Given the description of an element on the screen output the (x, y) to click on. 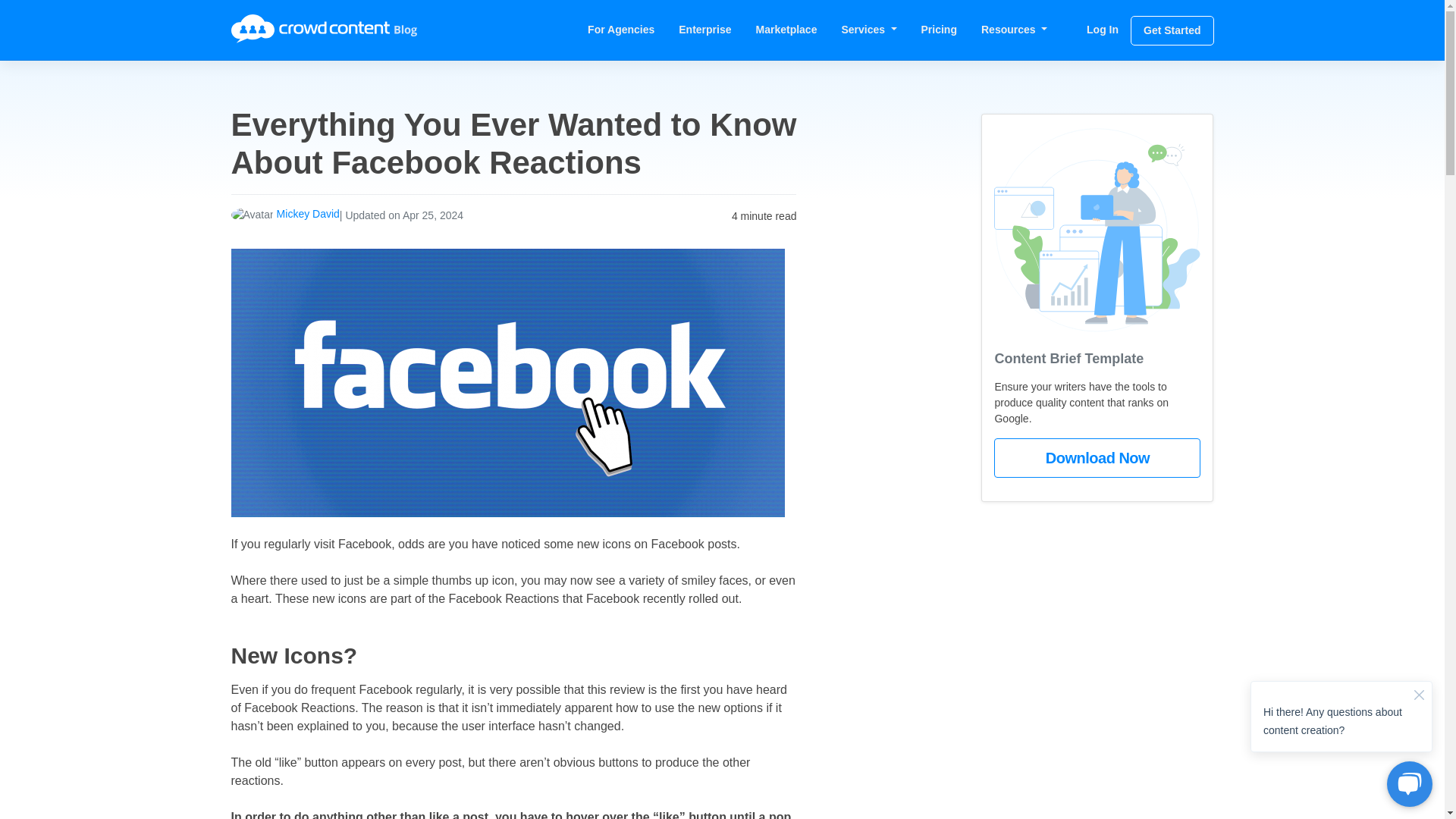
Pricing (938, 29)
Marketplace (786, 29)
Services (868, 29)
Enterprise (704, 29)
Marketplace (786, 29)
Log In (1102, 29)
For Agencies (620, 29)
Resources (1014, 29)
Pricing (938, 29)
Resources (1014, 29)
Services (868, 29)
Enterprise (704, 29)
Mickey David (307, 214)
Get Started (1171, 30)
For Agencies (620, 29)
